Given the description of an element on the screen output the (x, y) to click on. 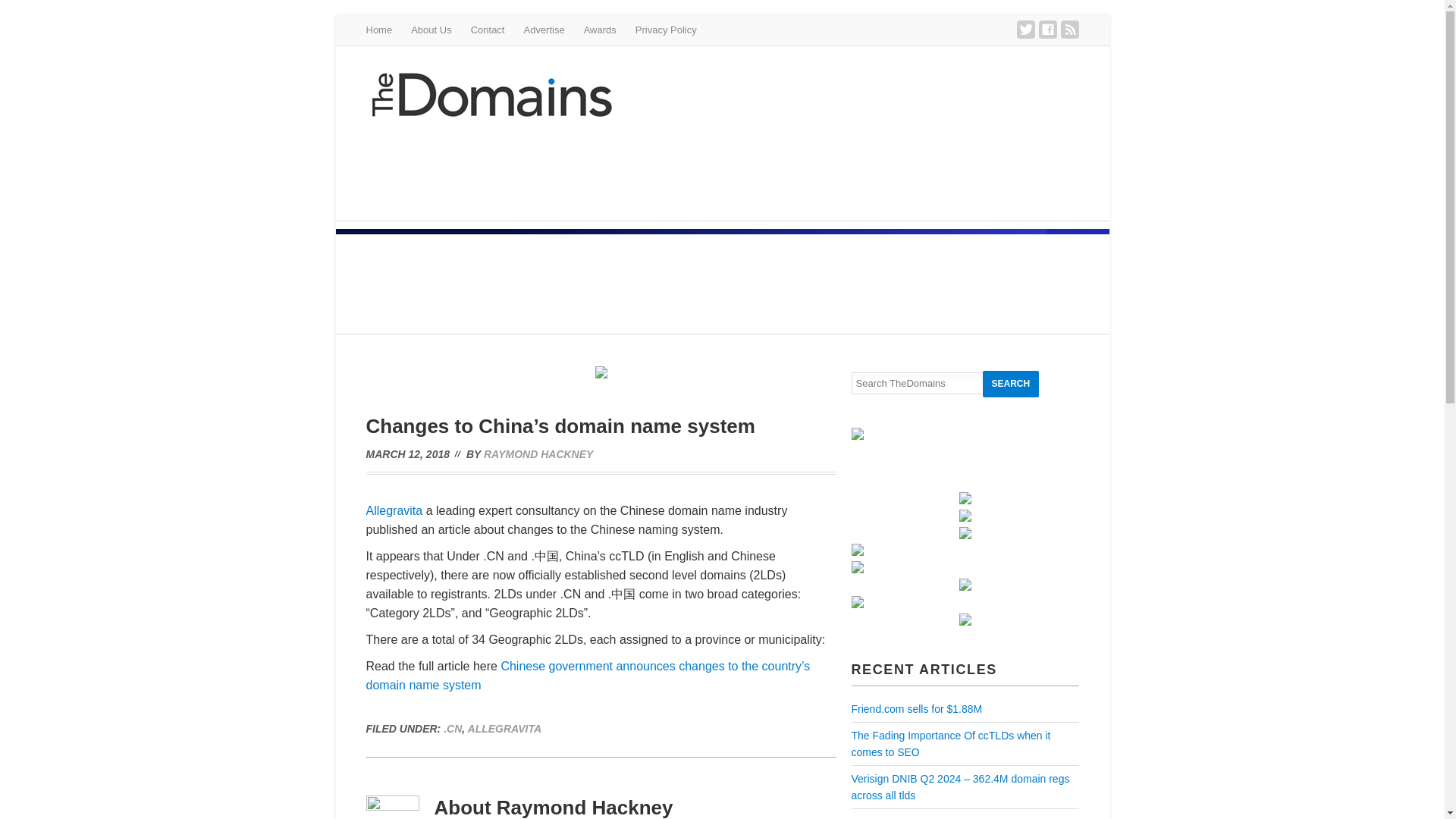
Twitter (1024, 29)
Contact (487, 30)
ALLEGRAVITA (504, 728)
RAYMOND HACKNEY (537, 453)
Awards (599, 30)
Privacy Policy (665, 30)
The Fading Importance Of ccTLDs when it comes to SEO (949, 743)
Search (1010, 384)
Advertise (543, 30)
Search (1010, 384)
